Given the description of an element on the screen output the (x, y) to click on. 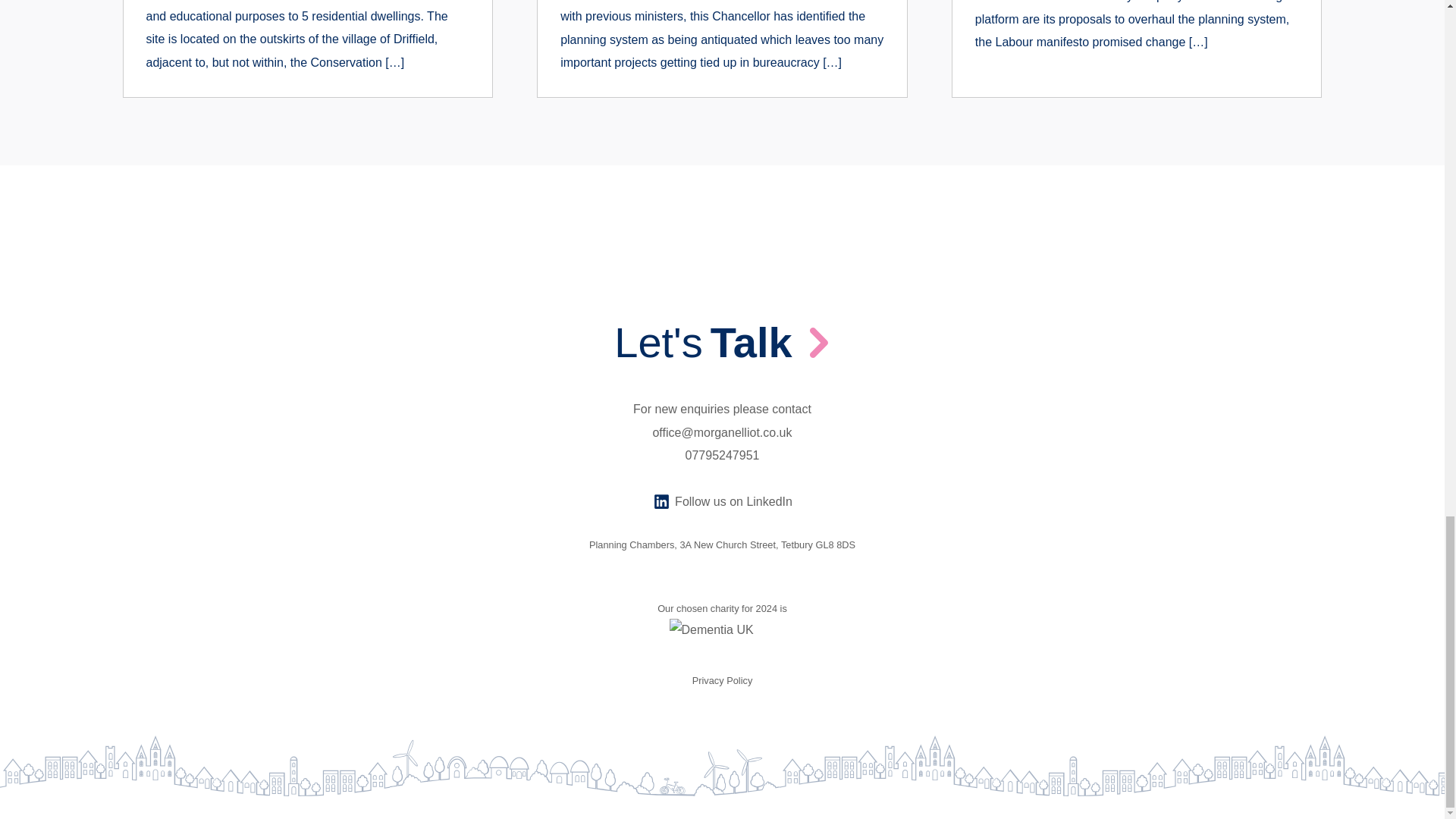
07795247951 (722, 454)
Privacy Policy (722, 680)
Follow us on LinkedIn (722, 501)
